Given the description of an element on the screen output the (x, y) to click on. 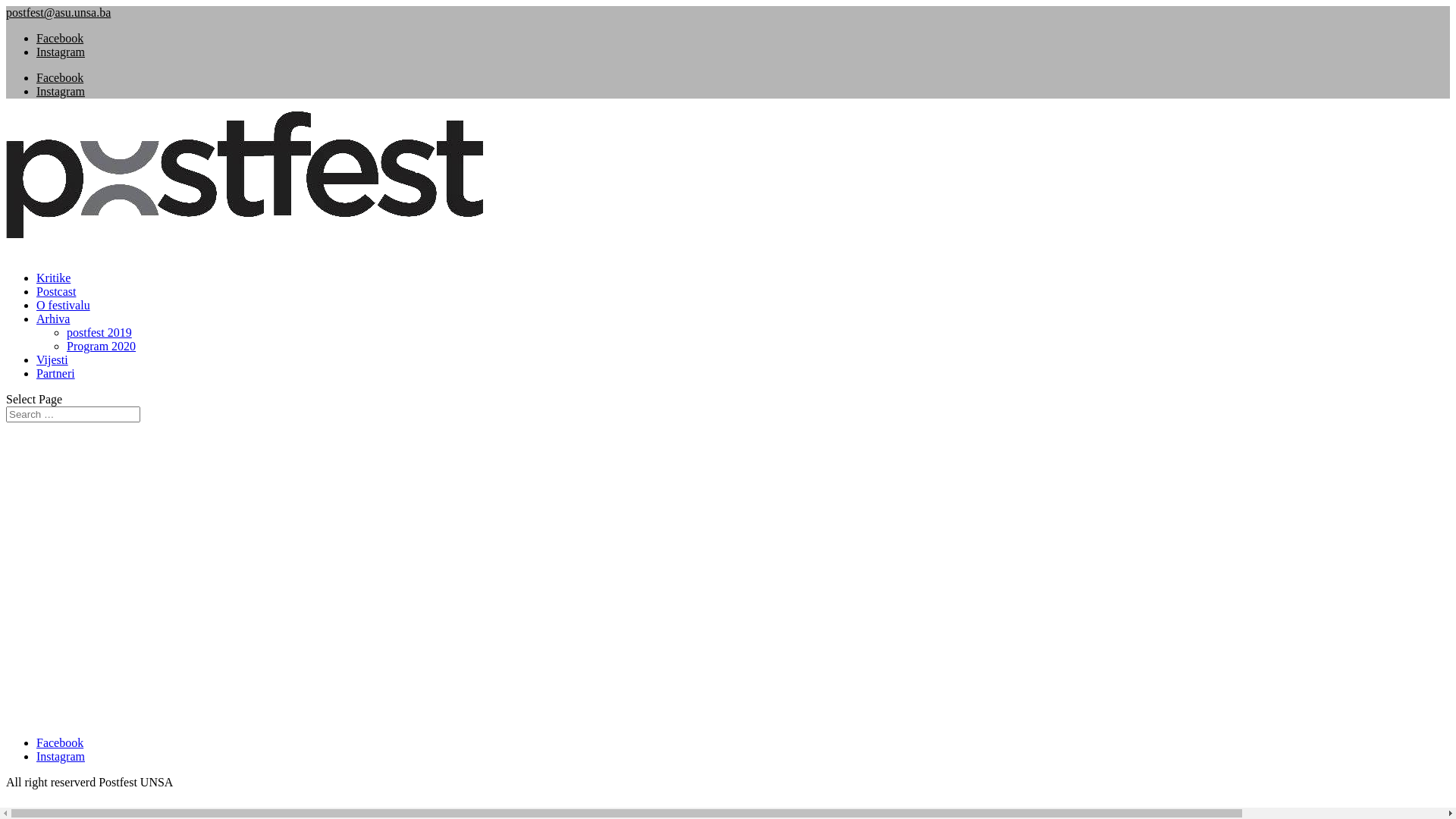
postfest@asu.unsa.ba Element type: text (58, 12)
Facebook Element type: text (59, 742)
Program 2020 Element type: text (100, 345)
Instagram Element type: text (60, 90)
Postcast Element type: text (55, 300)
O festivalu Element type: text (63, 313)
postfest 2019 Element type: text (98, 332)
Vijesti Element type: text (52, 368)
Search for: Element type: hover (73, 414)
Partneri Element type: text (55, 382)
Instagram Element type: text (60, 755)
Kritike Element type: text (53, 286)
Facebook Element type: text (59, 37)
Facebook Element type: text (59, 77)
Instagram Element type: text (60, 51)
Arhiva Element type: text (52, 327)
